Given the description of an element on the screen output the (x, y) to click on. 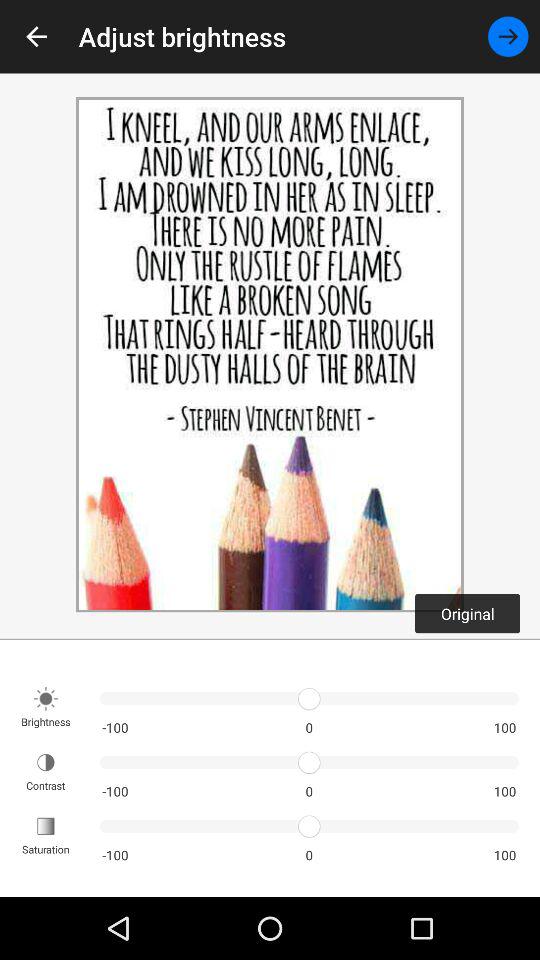
press the icon to the left of the adjust brightness icon (36, 36)
